Given the description of an element on the screen output the (x, y) to click on. 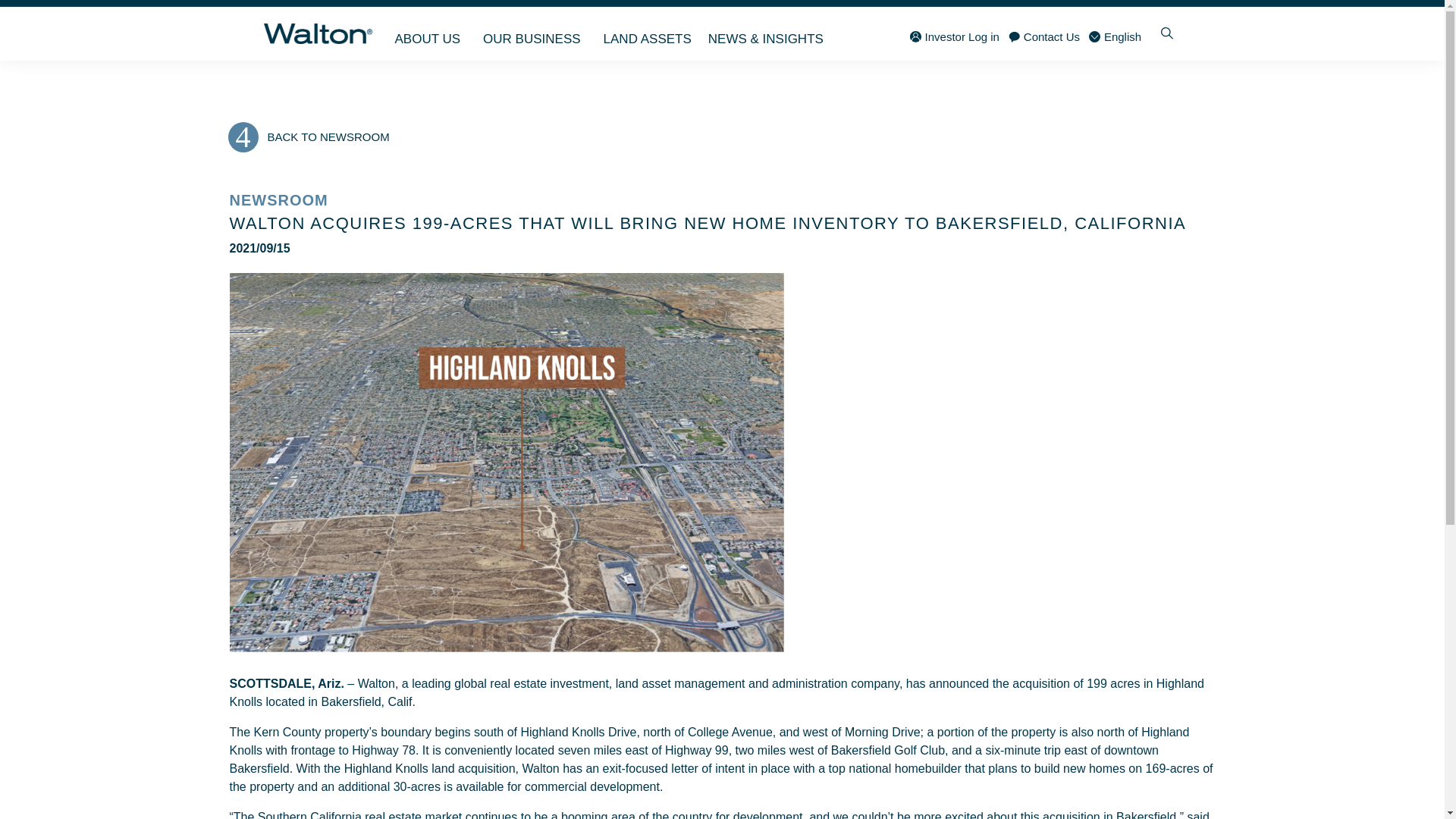
Contact Us (1044, 36)
ABOUT US (429, 33)
LAND ASSETS (647, 33)
OUR BUSINESS (534, 33)
